Given the description of an element on the screen output the (x, y) to click on. 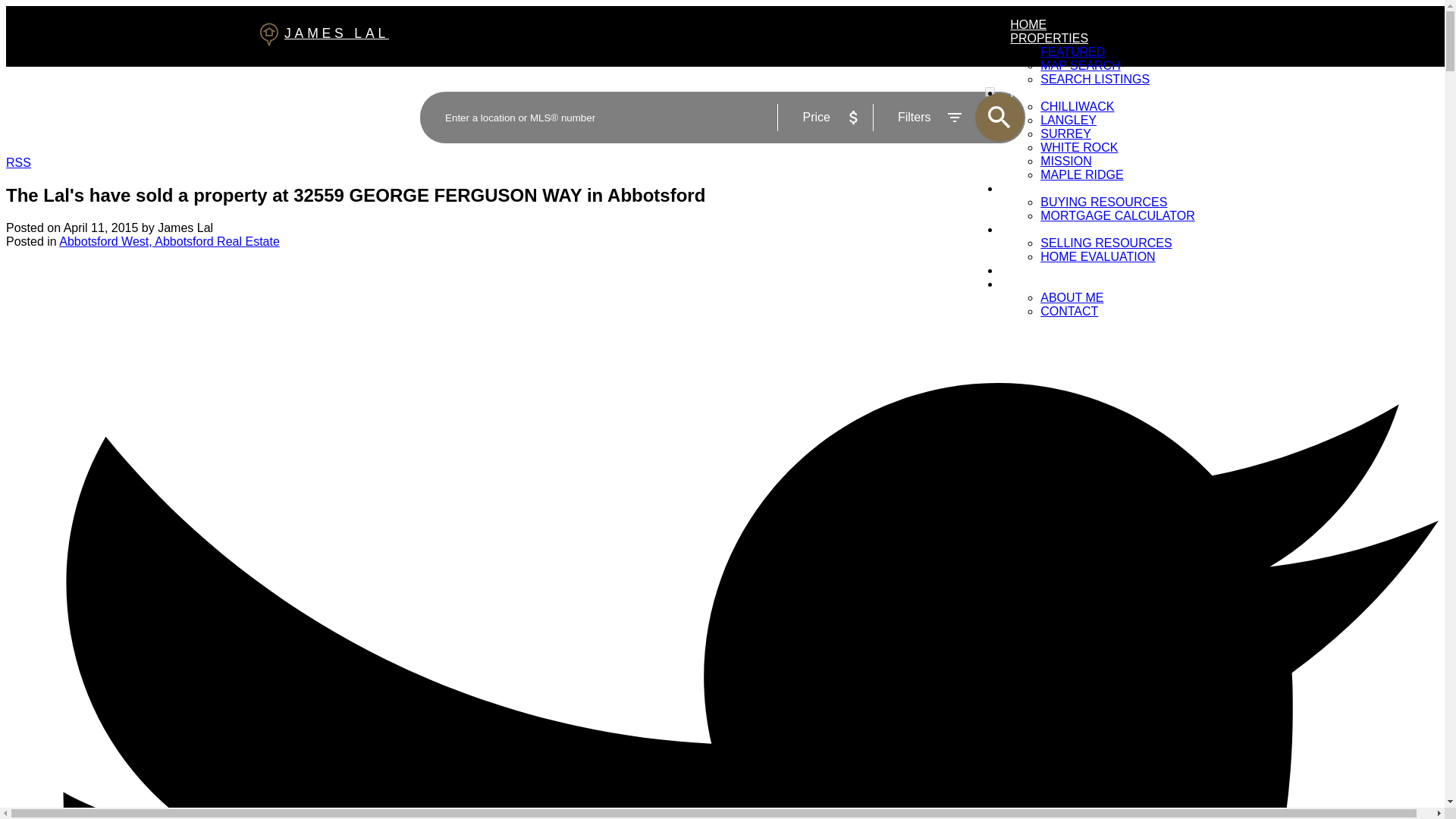
MAPLE RIDGE (1081, 174)
HOME EVALUATION (1097, 256)
BUYING RESOURCES (1104, 201)
SEARCH LISTINGS (1095, 78)
BUYING (1033, 187)
CONTACT (1069, 310)
MORTGAGE CALCULATOR (1118, 215)
ABOUT ME (1072, 297)
MISSION (1066, 160)
SELLING RESOURCES (1106, 242)
